Given the description of an element on the screen output the (x, y) to click on. 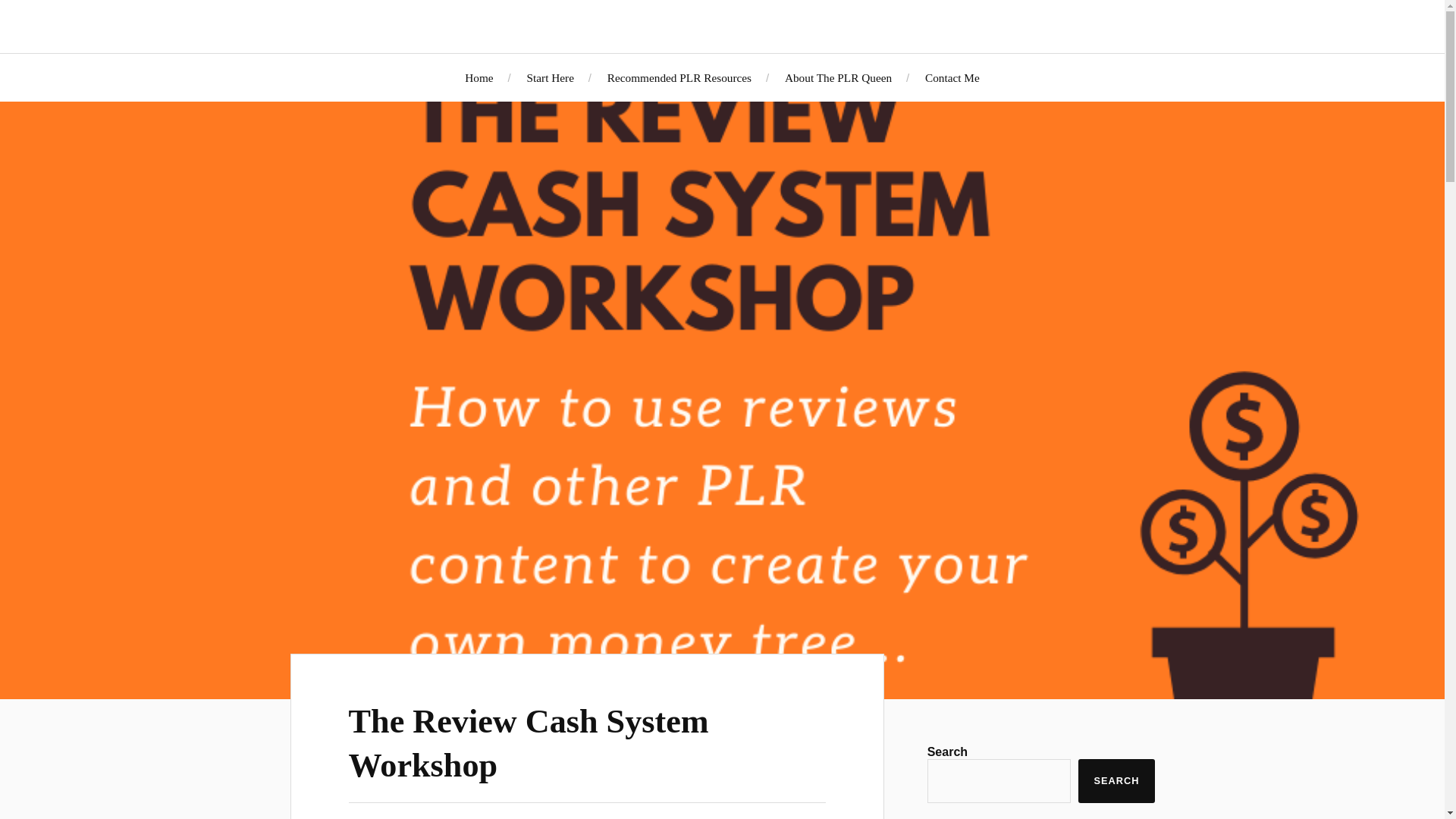
Start Here (549, 77)
Contact Me (951, 77)
About The PLR Queen (837, 77)
The Review Cash System Workshop (529, 742)
Recommended PLR Resources (679, 77)
